Given the description of an element on the screen output the (x, y) to click on. 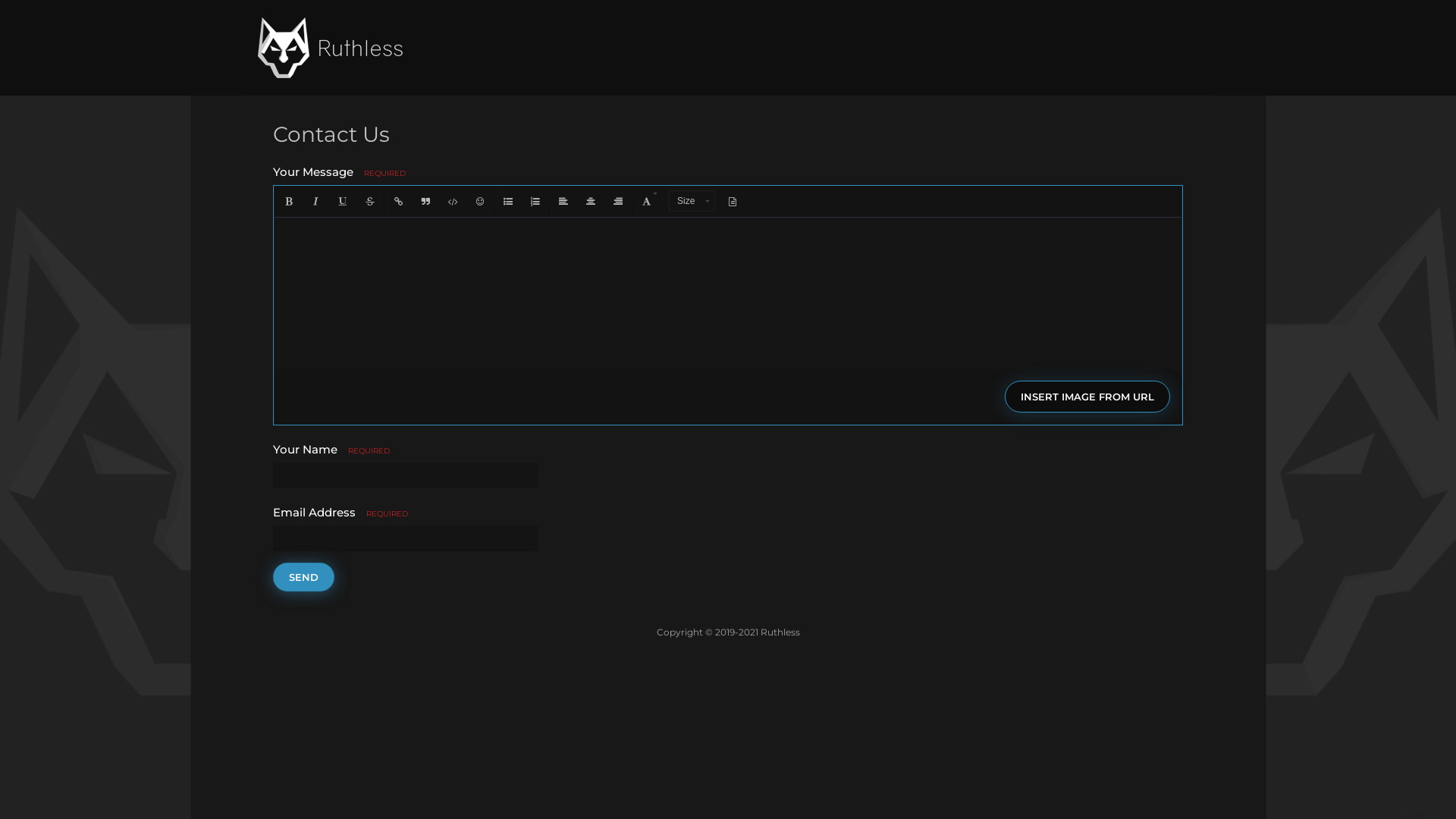
Enter your text; hold ctrl and right click for more options Element type: hover (727, 293)
Preview Element type: hover (732, 201)
Align Right Element type: hover (617, 201)
Bold (Ctrl+B) Element type: hover (287, 201)
SEND Element type: text (303, 576)
Italic (Ctrl+I) Element type: hover (315, 201)
Insert/Remove Numbered List Element type: hover (535, 201)
Link Element type: hover (397, 201)
Quote Element type: hover (425, 201)
Underline (Ctrl+U) Element type: hover (342, 201)
Code Element type: hover (452, 201)
Insert/Remove Bulleted List Element type: hover (507, 201)
Center Element type: hover (590, 201)
Text Color Element type: hover (648, 201)
Emoji Element type: hover (479, 201)
INSERT IMAGE FROM URL Element type: text (1087, 213)
Strikethrough Element type: hover (369, 201)
Align Left Element type: hover (563, 201)
